Given the description of an element on the screen output the (x, y) to click on. 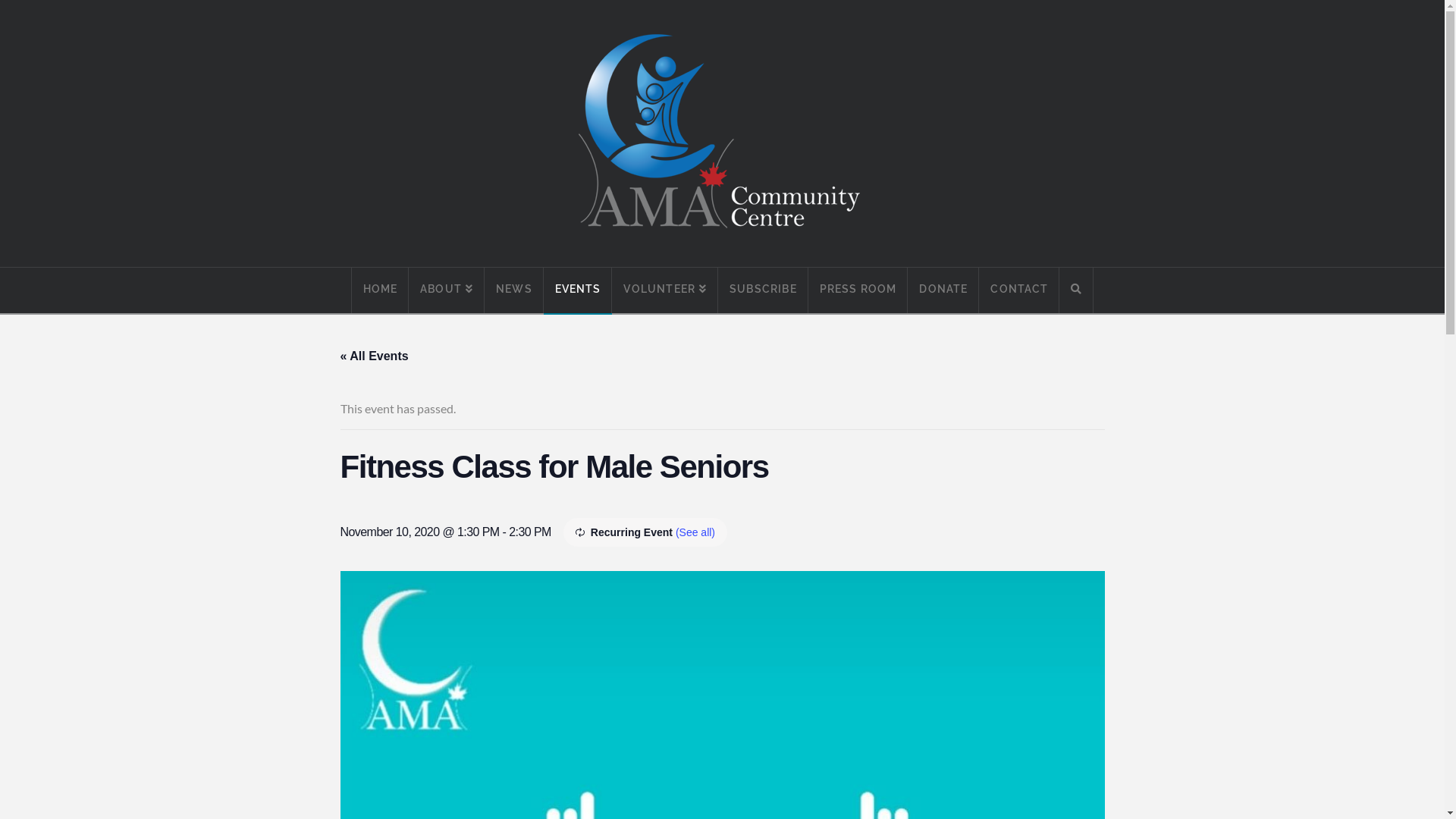
NEWS Element type: text (513, 290)
PRESS ROOM Element type: text (858, 290)
HOME Element type: text (380, 290)
VOLUNTEER Element type: text (664, 290)
(See all) Element type: text (695, 532)
EVENTS Element type: text (577, 290)
CONTACT Element type: text (1019, 290)
ABOUT Element type: text (446, 290)
SUBSCRIBE Element type: text (763, 290)
DONATE Element type: text (943, 290)
